Given the description of an element on the screen output the (x, y) to click on. 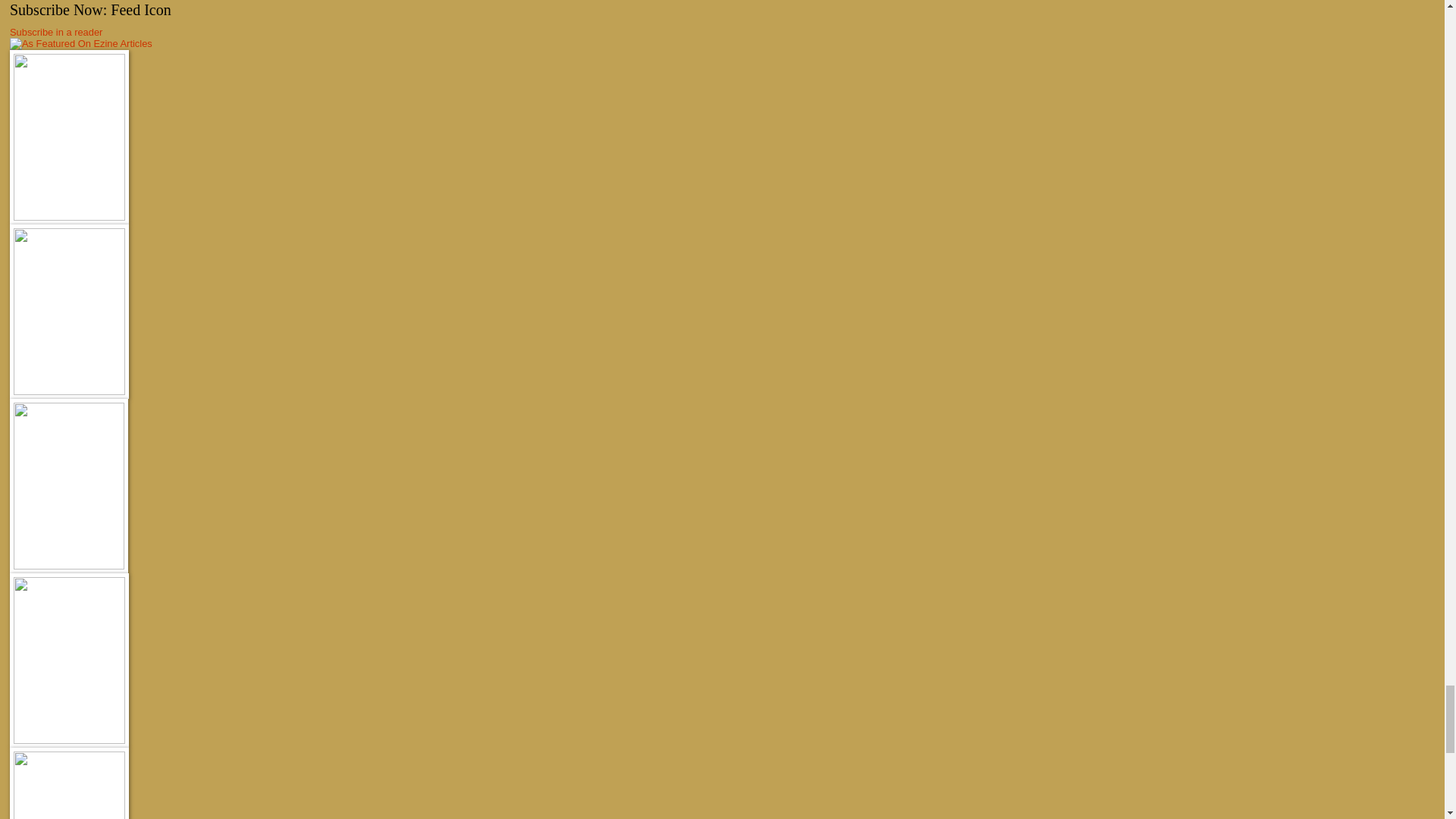
Subscribe to my feed (55, 31)
